Given the description of an element on the screen output the (x, y) to click on. 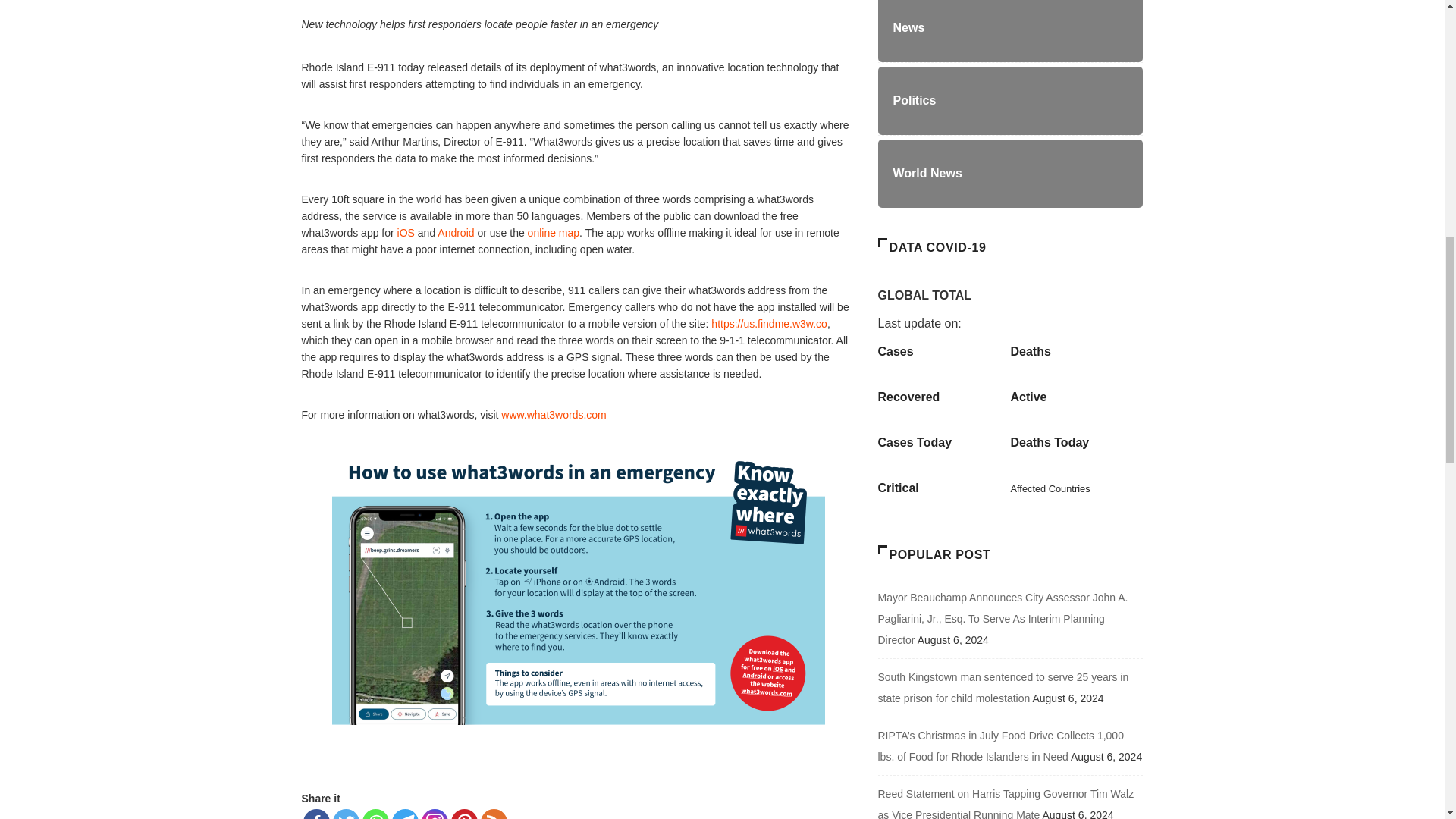
Pinterest (463, 814)
Whatsapp (375, 814)
online map (553, 232)
RSS Feed (493, 814)
Twitter (344, 814)
Instagram (435, 814)
iOS  (407, 232)
Facebook (316, 814)
Android  (457, 232)
Telegram (404, 814)
